Given the description of an element on the screen output the (x, y) to click on. 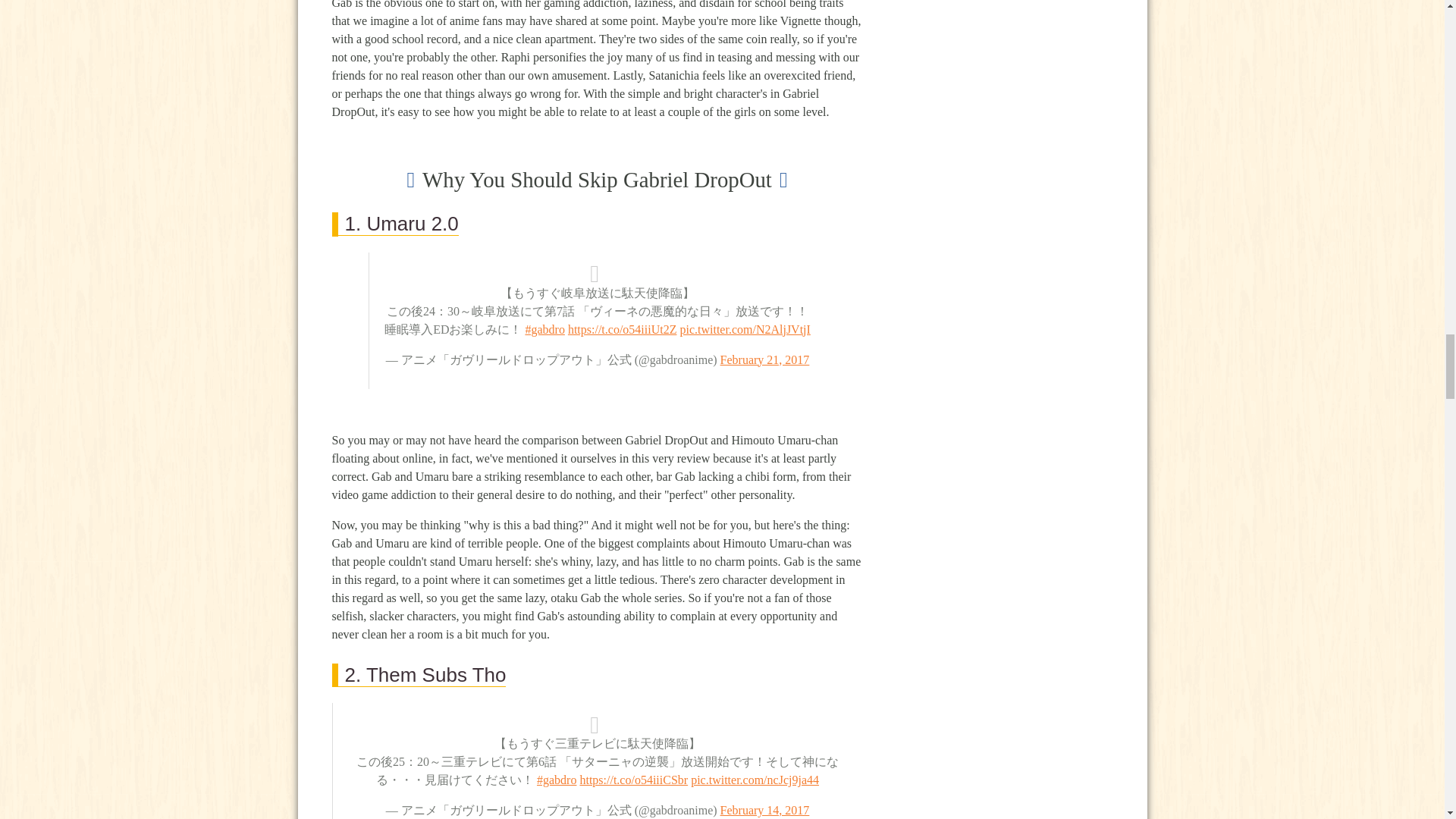
February 21, 2017 (764, 359)
February 14, 2017 (764, 809)
